Given the description of an element on the screen output the (x, y) to click on. 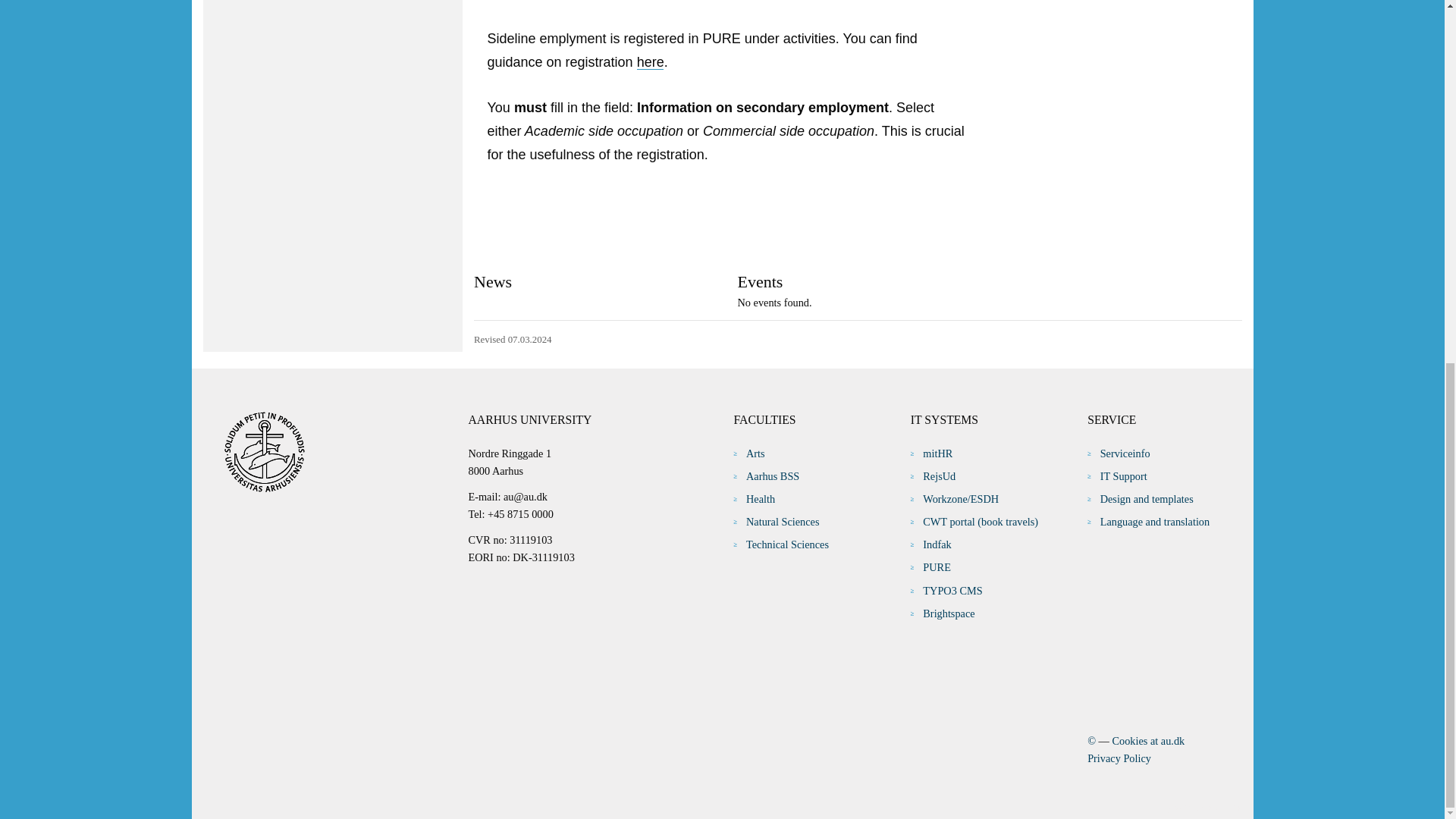
TYPO3 CMS (952, 590)
mitHR (937, 453)
Technical Sciences (786, 544)
Natural Sciences (781, 521)
Arts (755, 453)
Aarhus BSS (772, 476)
RejsUd (939, 476)
Serviceinfo (1125, 453)
Brightspace (948, 613)
Indfak (936, 544)
